Given the description of an element on the screen output the (x, y) to click on. 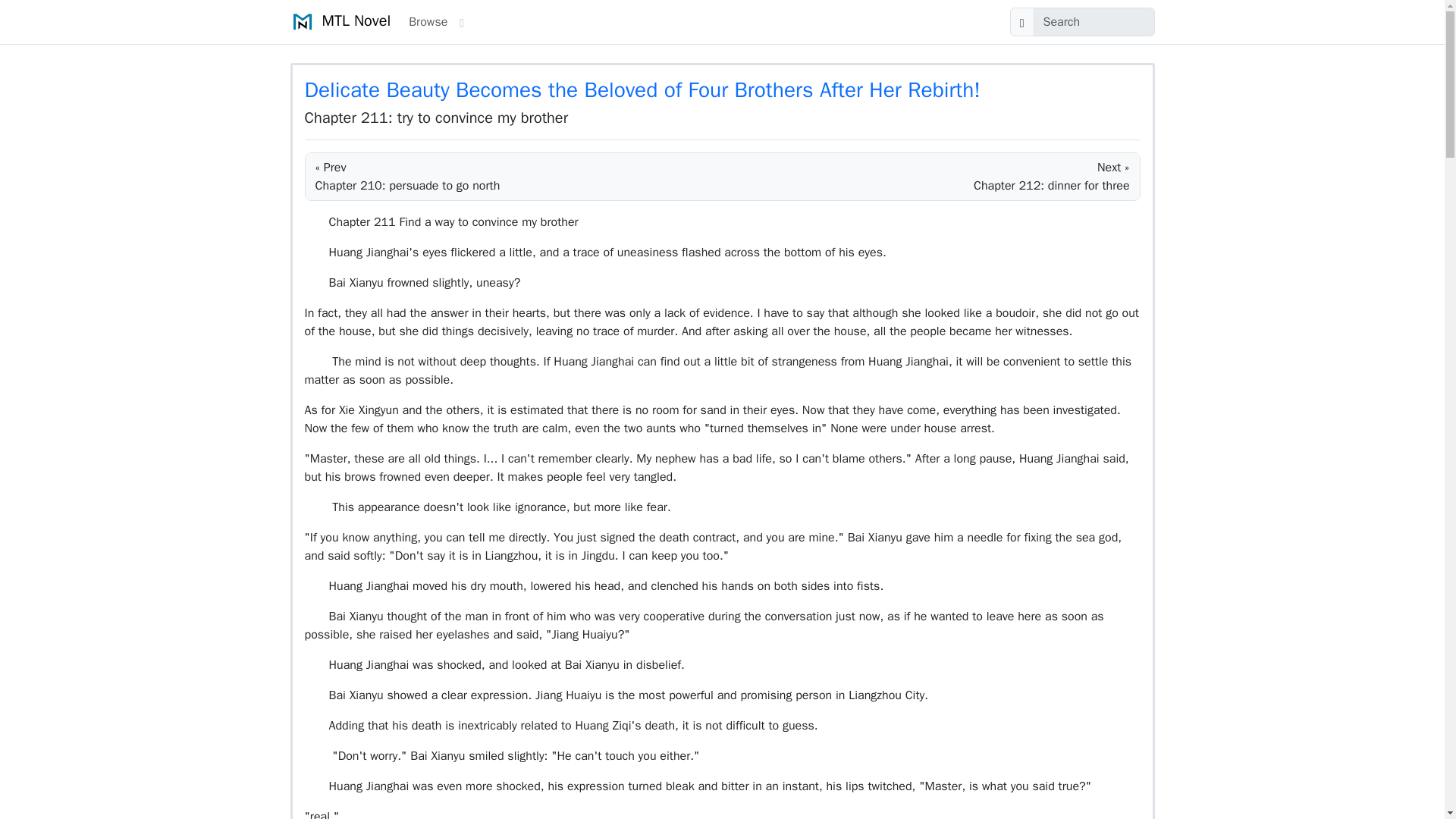
Browse (427, 21)
MTL Novel (339, 21)
